Given the description of an element on the screen output the (x, y) to click on. 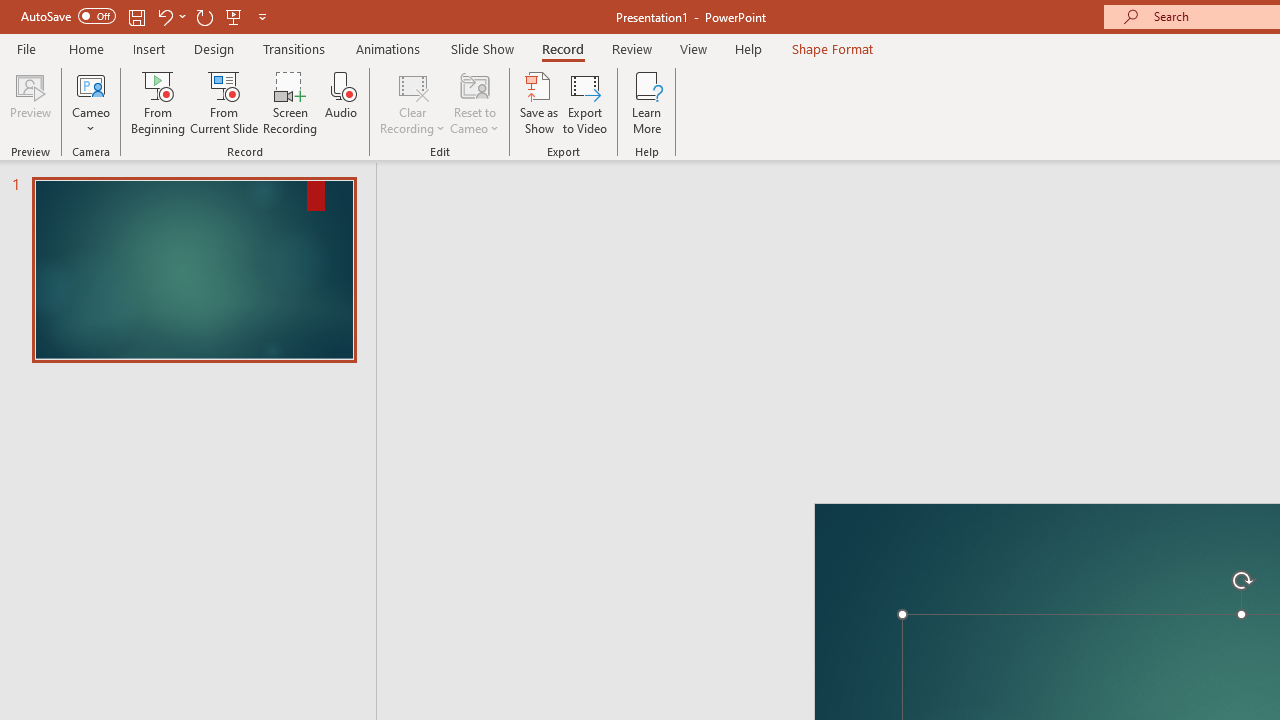
Cameo (91, 84)
Reset to Cameo (474, 102)
Slide (194, 269)
Quick Access Toolbar (145, 16)
Help (748, 48)
Insert (149, 48)
Audio (341, 102)
From Beginning (234, 15)
Home (86, 48)
Cameo (91, 102)
Record (562, 48)
Design (214, 48)
AutoSave (68, 16)
Customize Quick Access Toolbar (262, 15)
View (693, 48)
